Given the description of an element on the screen output the (x, y) to click on. 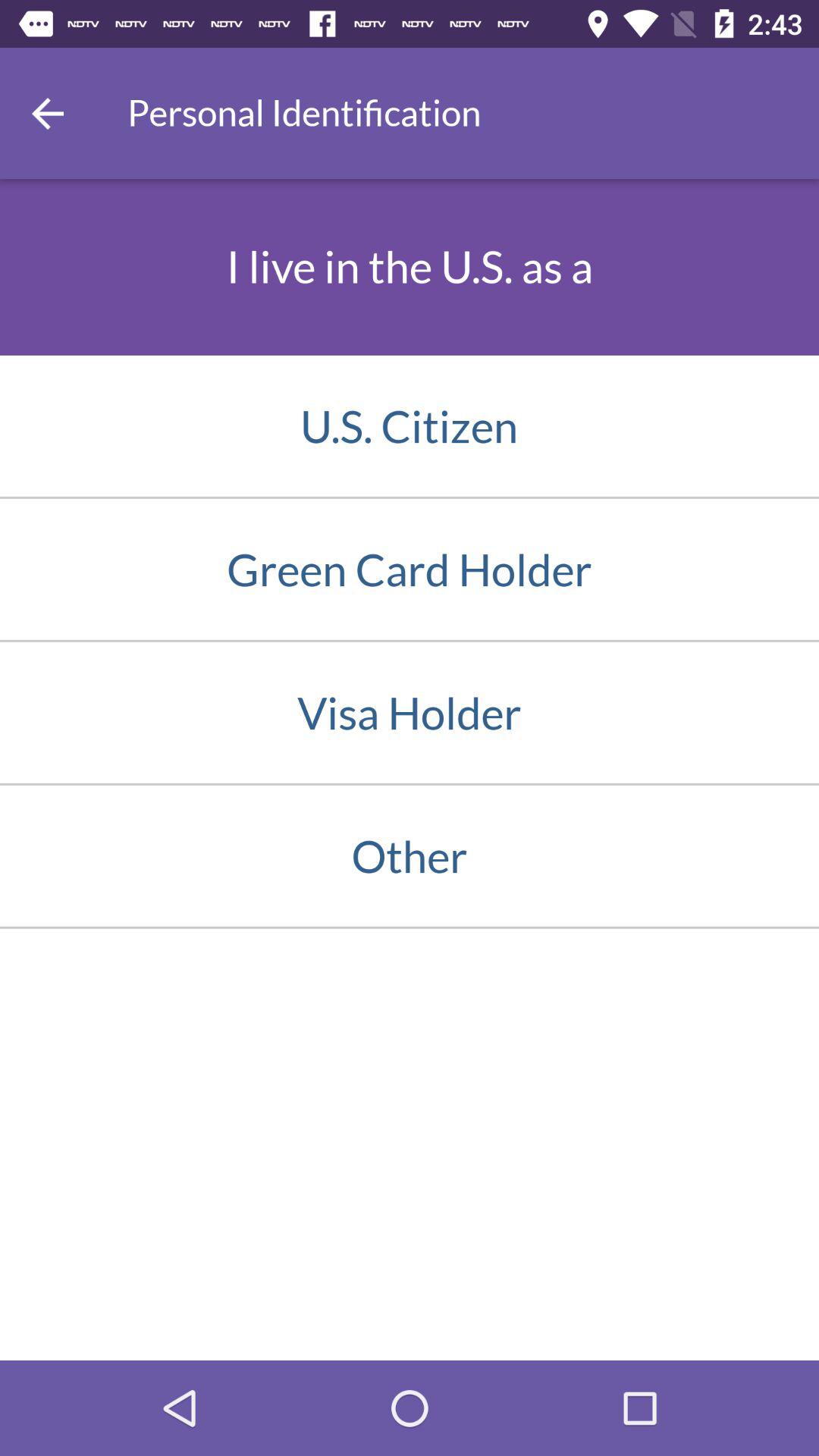
select icon to the left of personal identification icon (47, 113)
